Given the description of an element on the screen output the (x, y) to click on. 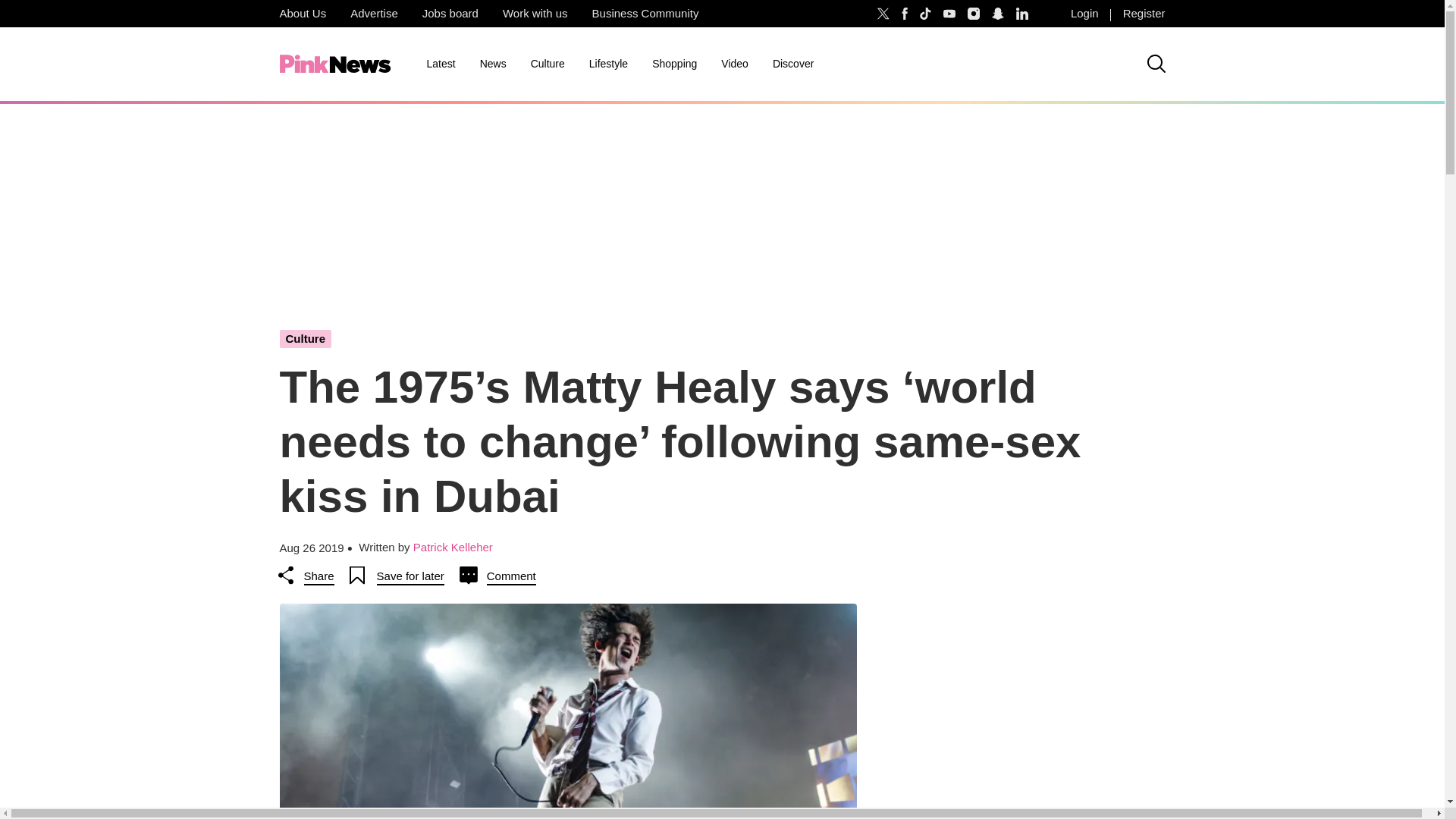
Login (1084, 13)
Lifestyle (608, 63)
Jobs board (450, 13)
Advertise (373, 13)
Work with us (534, 13)
Culture (547, 63)
Register (1143, 13)
Latest (440, 63)
Business Community (645, 13)
About Us (301, 13)
